Given the description of an element on the screen output the (x, y) to click on. 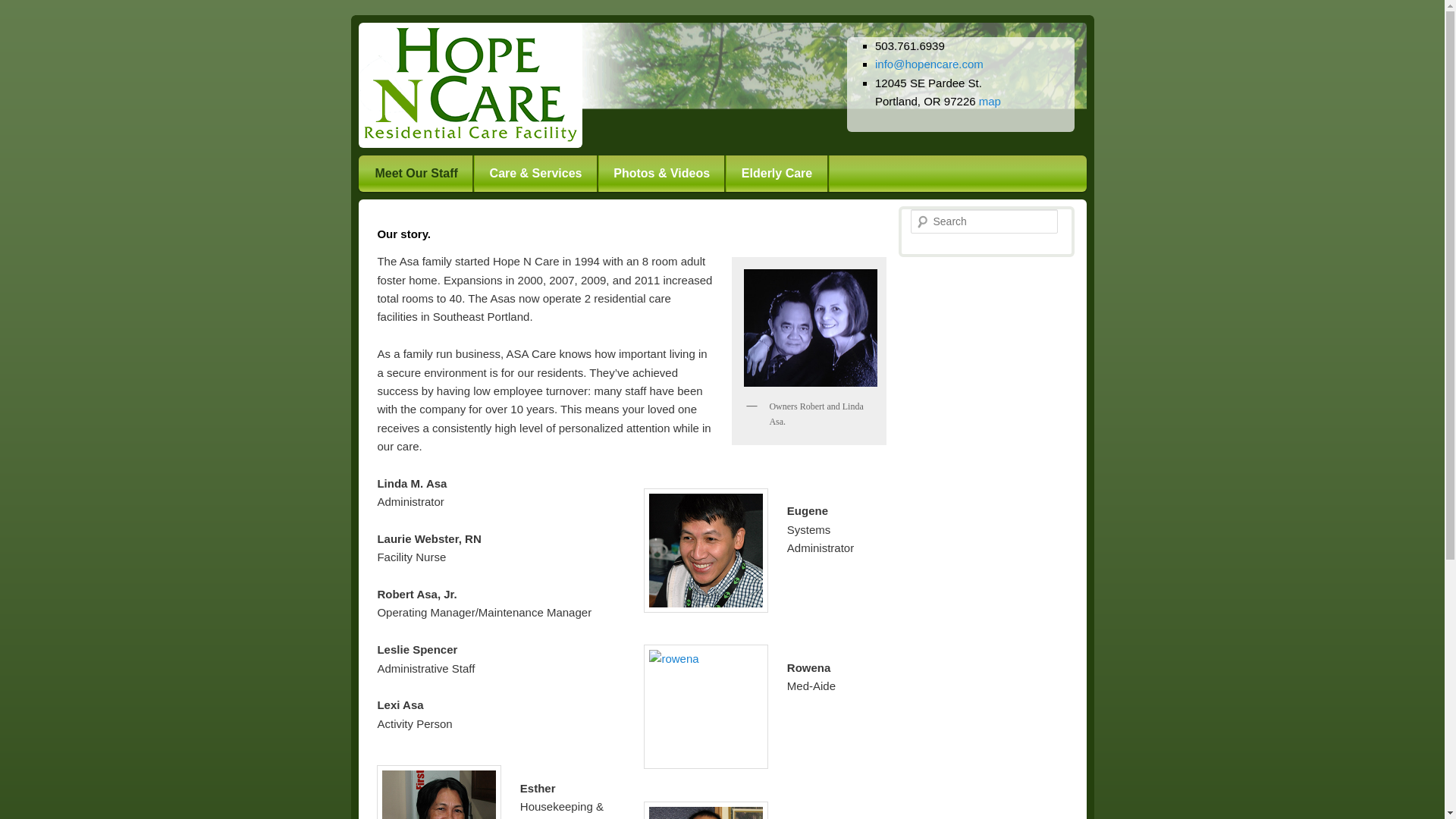
Skip to primary content (459, 173)
Search (21, 11)
Hope And Care (469, 85)
Elderly Care (776, 173)
Skip to secondary content (467, 173)
Skip to primary content (459, 173)
Meet Our Staff (415, 173)
map (989, 101)
Skip to secondary content (467, 173)
